Given the description of an element on the screen output the (x, y) to click on. 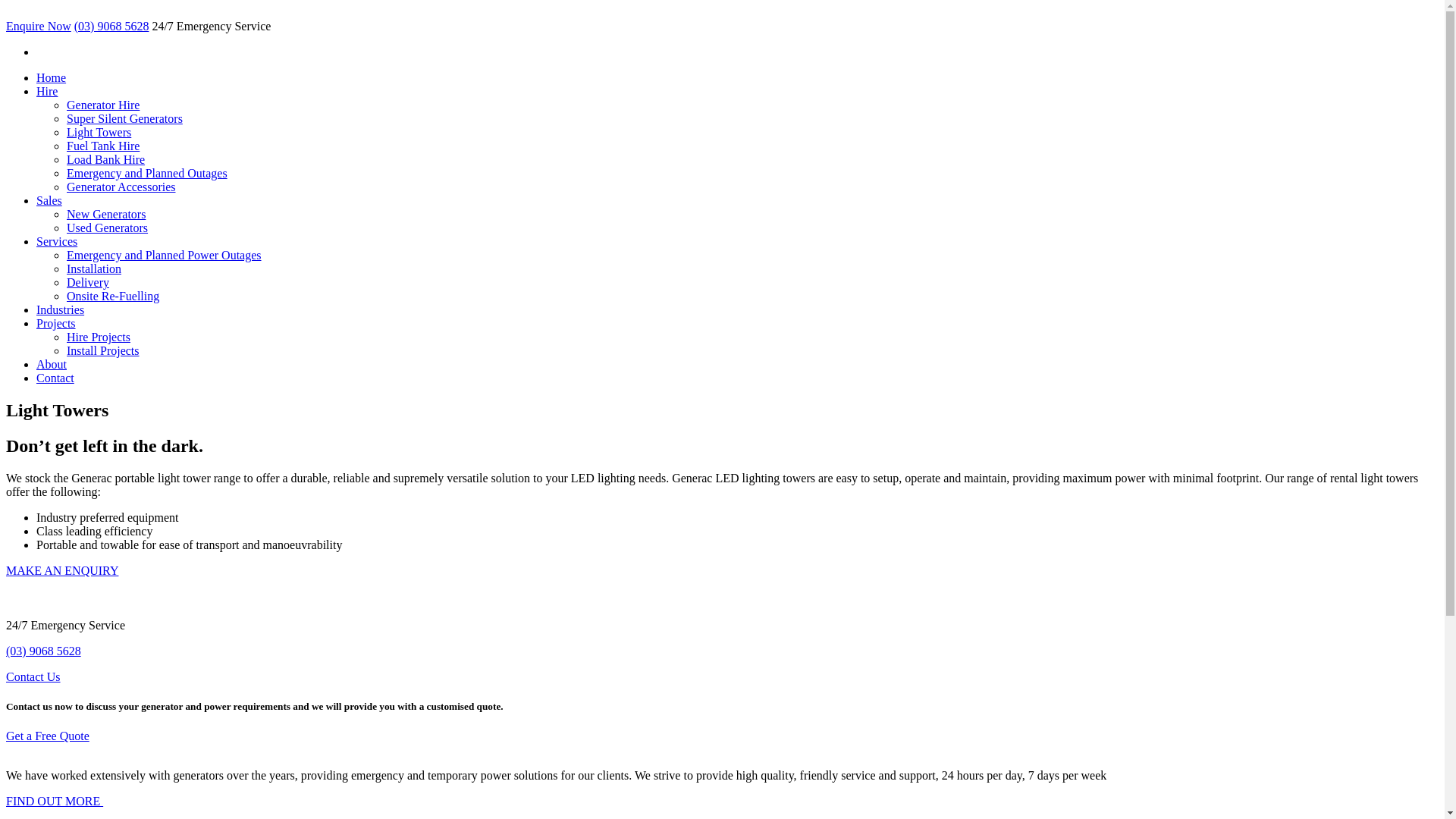
Home Element type: text (50, 77)
Fuel Tank Hire Element type: text (102, 145)
Install Projects Element type: text (102, 350)
MAKE AN ENQUIRY Element type: text (62, 570)
Services Element type: text (56, 241)
Light Towers Element type: text (98, 131)
Projects Element type: text (55, 322)
Emergency and Planned Outages Element type: text (146, 172)
Generator Accessories Element type: text (120, 186)
About Element type: text (51, 363)
Generator Hire Element type: text (102, 104)
Installation Element type: text (93, 268)
Super Silent Generators Element type: text (124, 118)
Enquire Now Element type: text (38, 25)
Load Bank Hire Element type: text (105, 159)
FIND OUT MORE Element type: text (54, 800)
New Generators Element type: text (105, 213)
Sales Element type: text (49, 200)
Used Generators Element type: text (106, 227)
Contact Us Element type: text (33, 676)
(03) 9068 5628 Element type: text (43, 650)
Emergency and Planned Power Outages Element type: text (163, 254)
(03) 9068 5628 Element type: text (111, 25)
Delivery Element type: text (87, 282)
Hire Projects Element type: text (98, 336)
Get a Free Quote Element type: text (47, 735)
Contact Element type: text (55, 377)
Hire Element type: text (46, 90)
Onsite Re-Fuelling Element type: text (112, 295)
Industries Element type: text (60, 309)
